Given the description of an element on the screen output the (x, y) to click on. 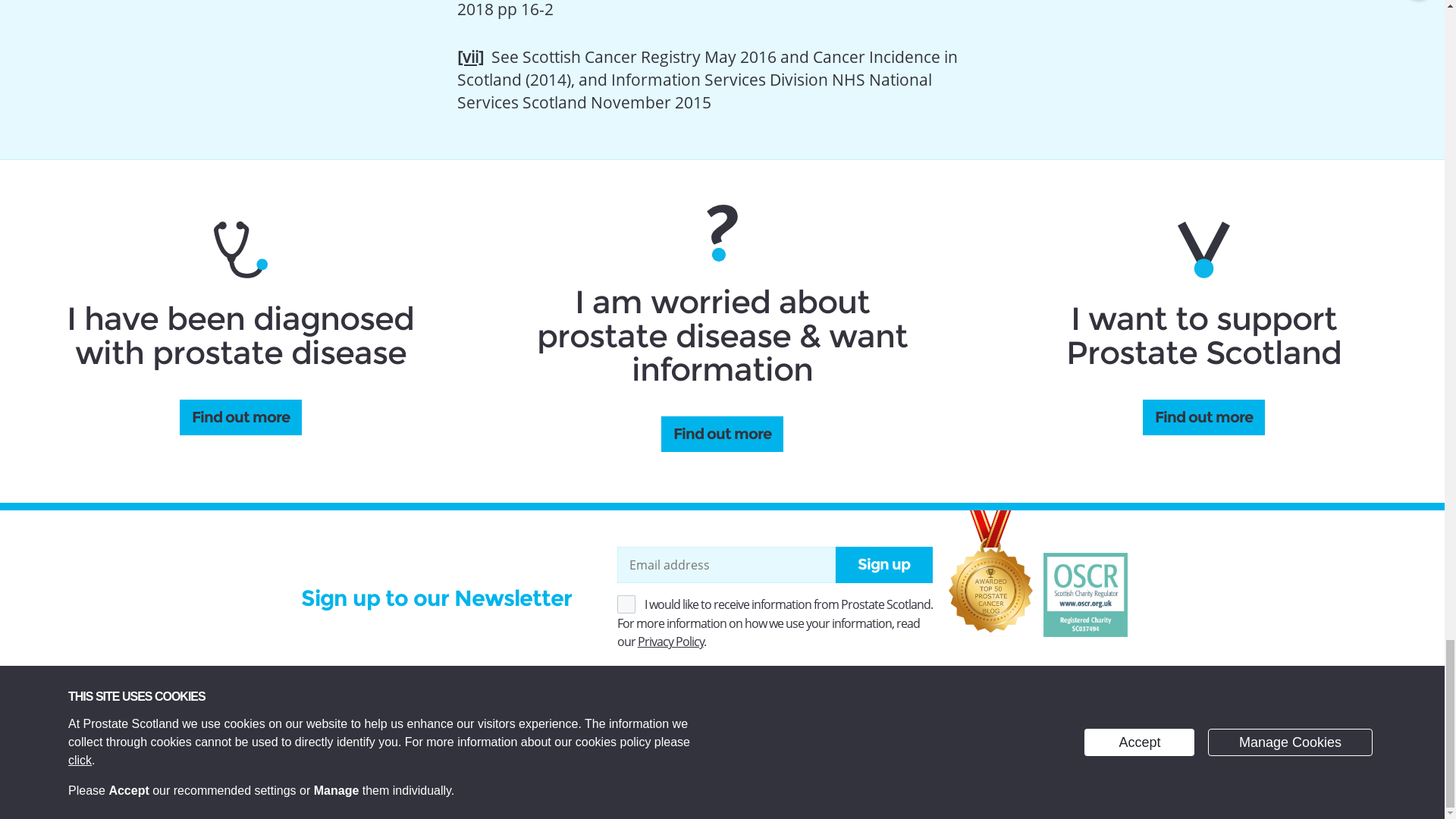
Find out more (240, 416)
true (625, 604)
